Given the description of an element on the screen output the (x, y) to click on. 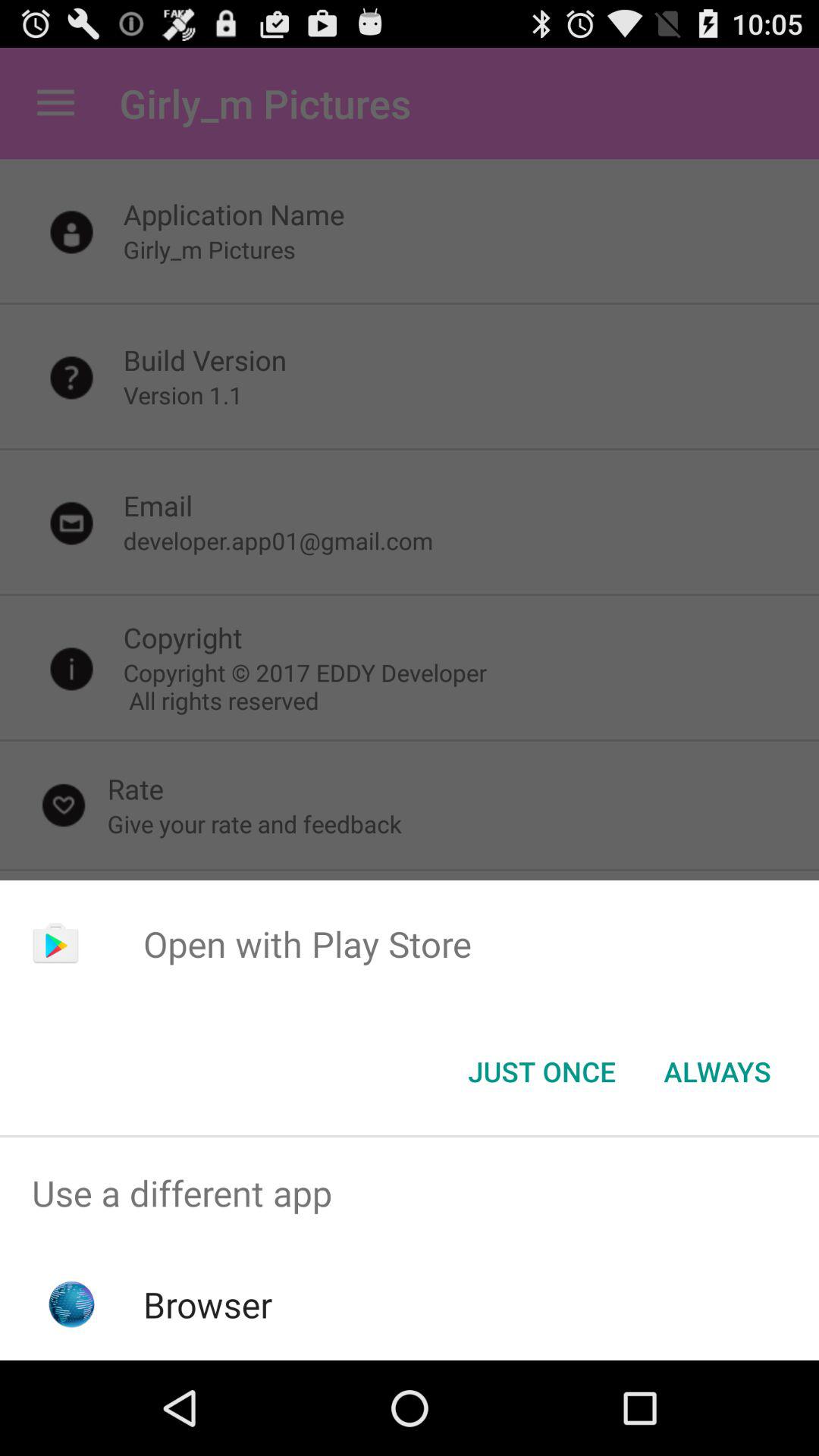
select the button to the right of just once (717, 1071)
